Given the description of an element on the screen output the (x, y) to click on. 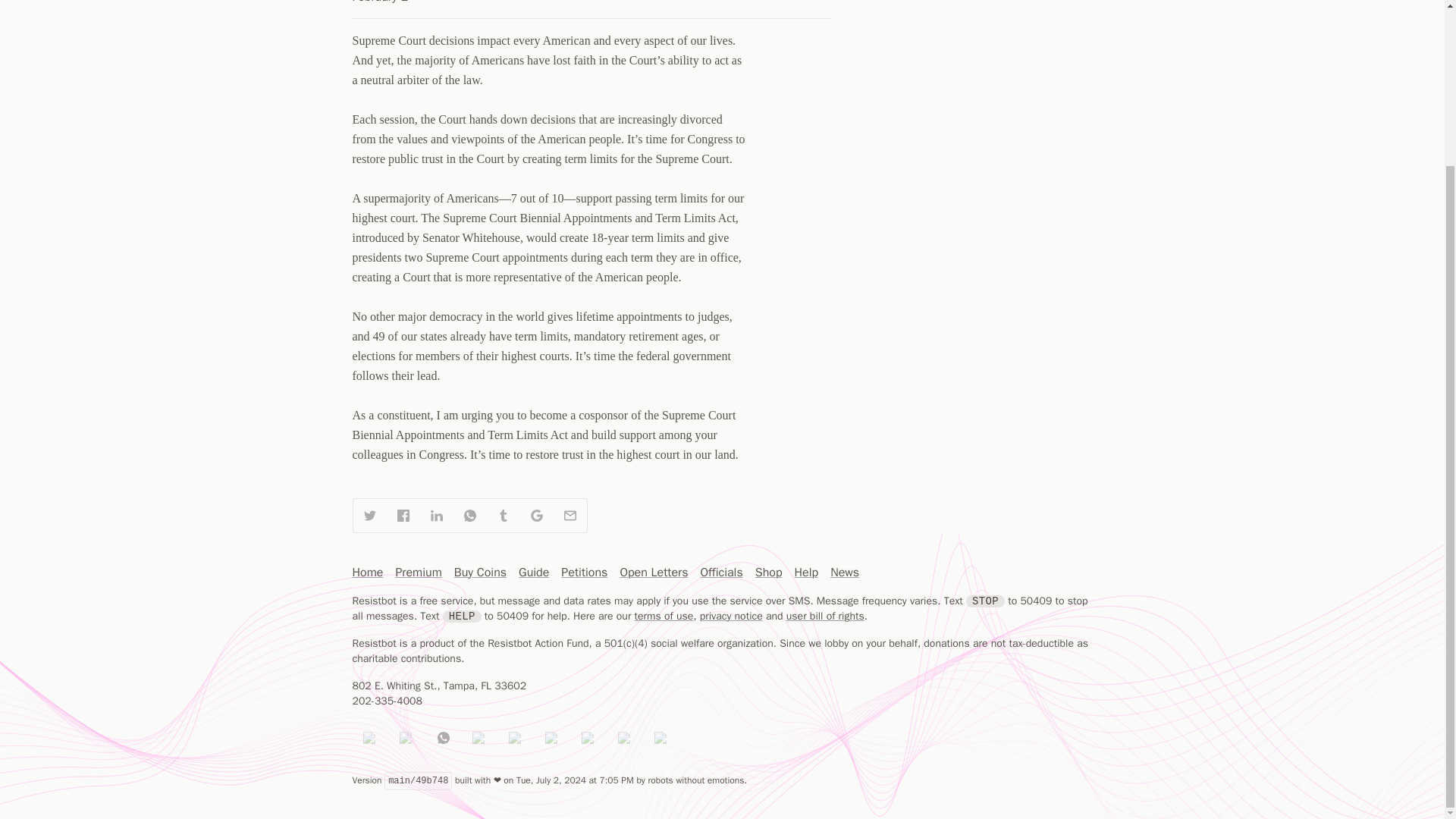
Home (367, 572)
Help (806, 572)
Petitions (583, 572)
terms of use (664, 615)
Guide (533, 572)
News (844, 572)
Premium (417, 572)
privacy notice (731, 615)
Shop (769, 572)
Buy Coins (480, 572)
Officials (721, 572)
Open Letters (653, 572)
user bill of rights (825, 615)
